Given the description of an element on the screen output the (x, y) to click on. 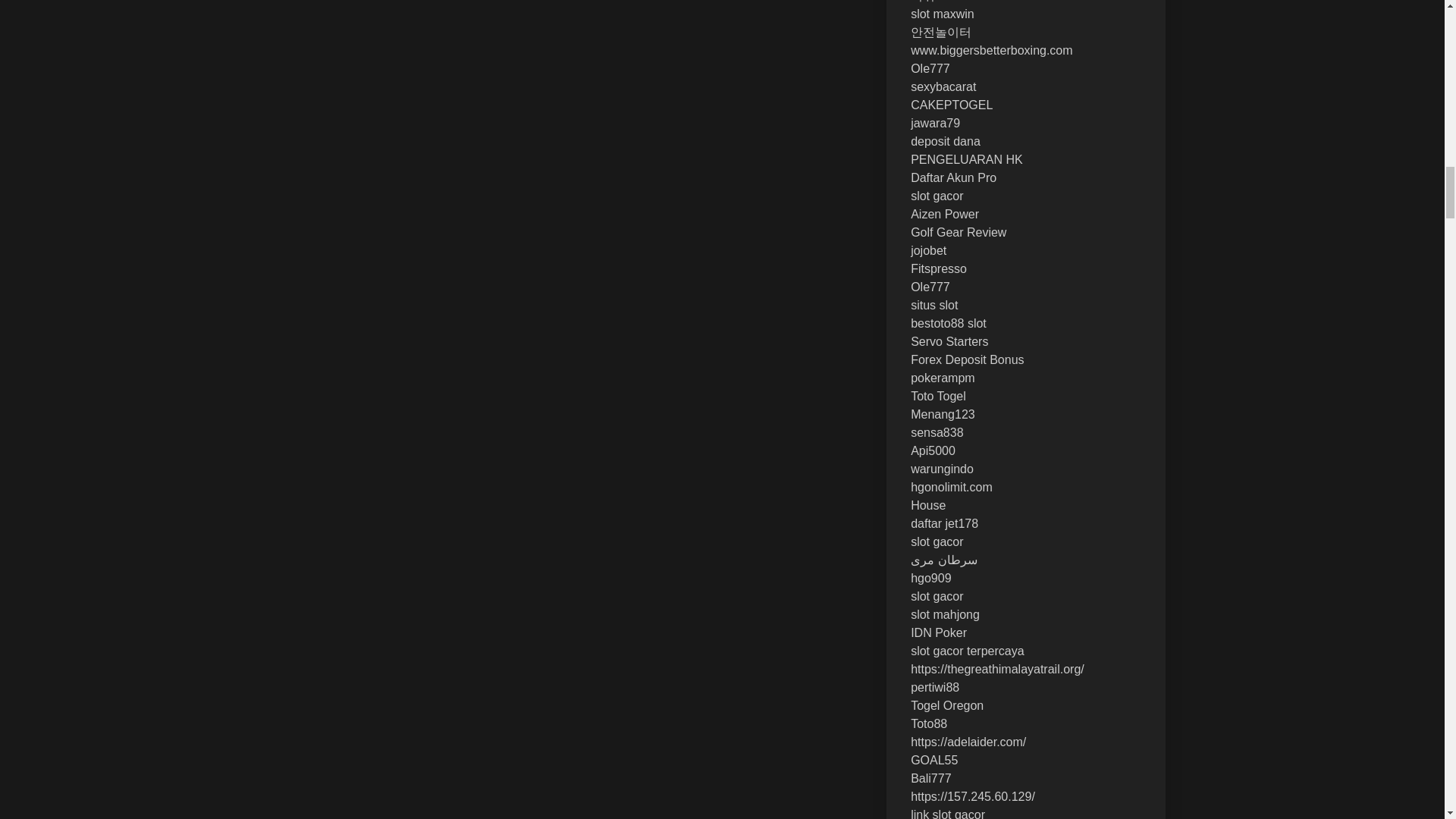
jojobet (928, 250)
